Given the description of an element on the screen output the (x, y) to click on. 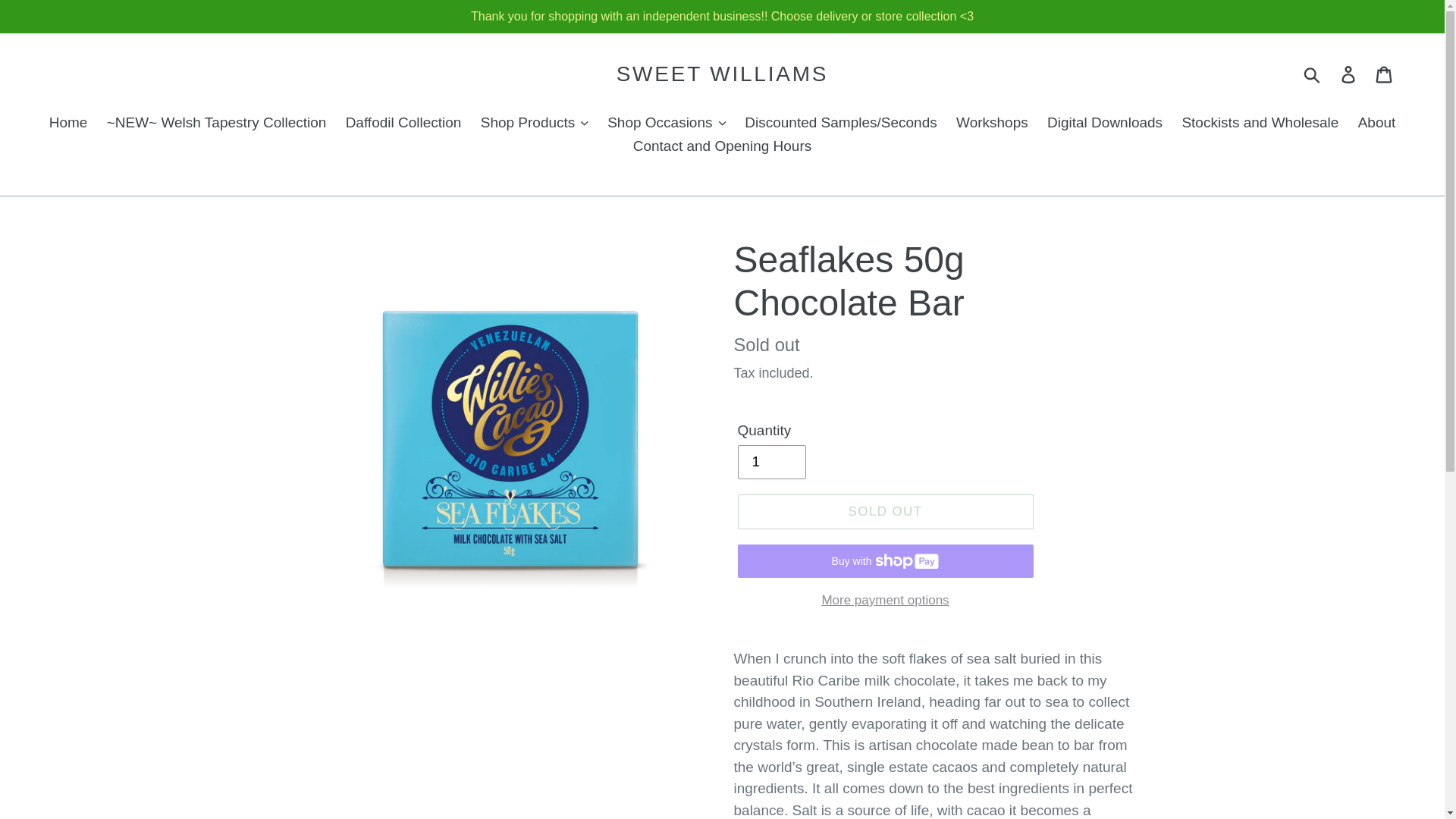
Log in (1349, 74)
Cart (1385, 74)
1 (770, 462)
Submit (1313, 74)
SWEET WILLIAMS (721, 73)
